Given the description of an element on the screen output the (x, y) to click on. 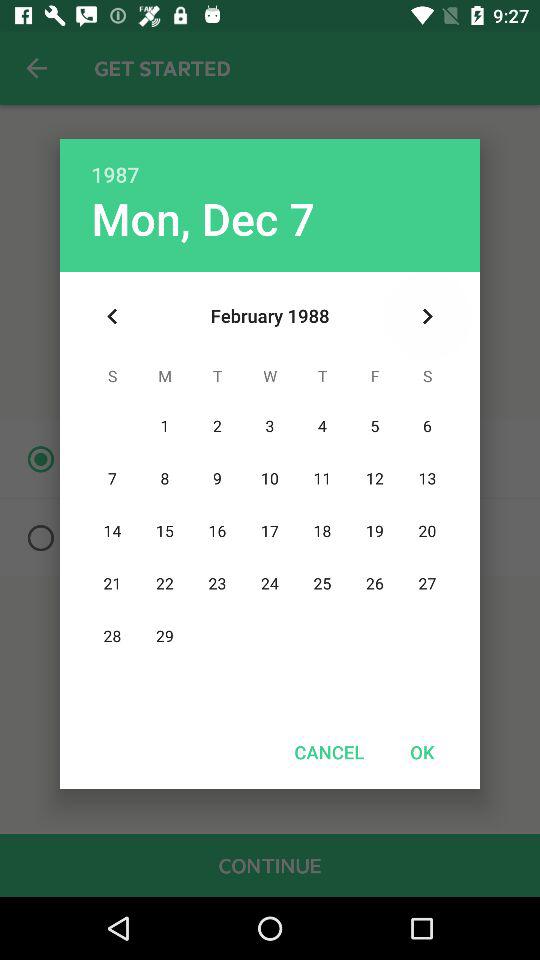
turn off the icon at the bottom right corner (422, 751)
